Given the description of an element on the screen output the (x, y) to click on. 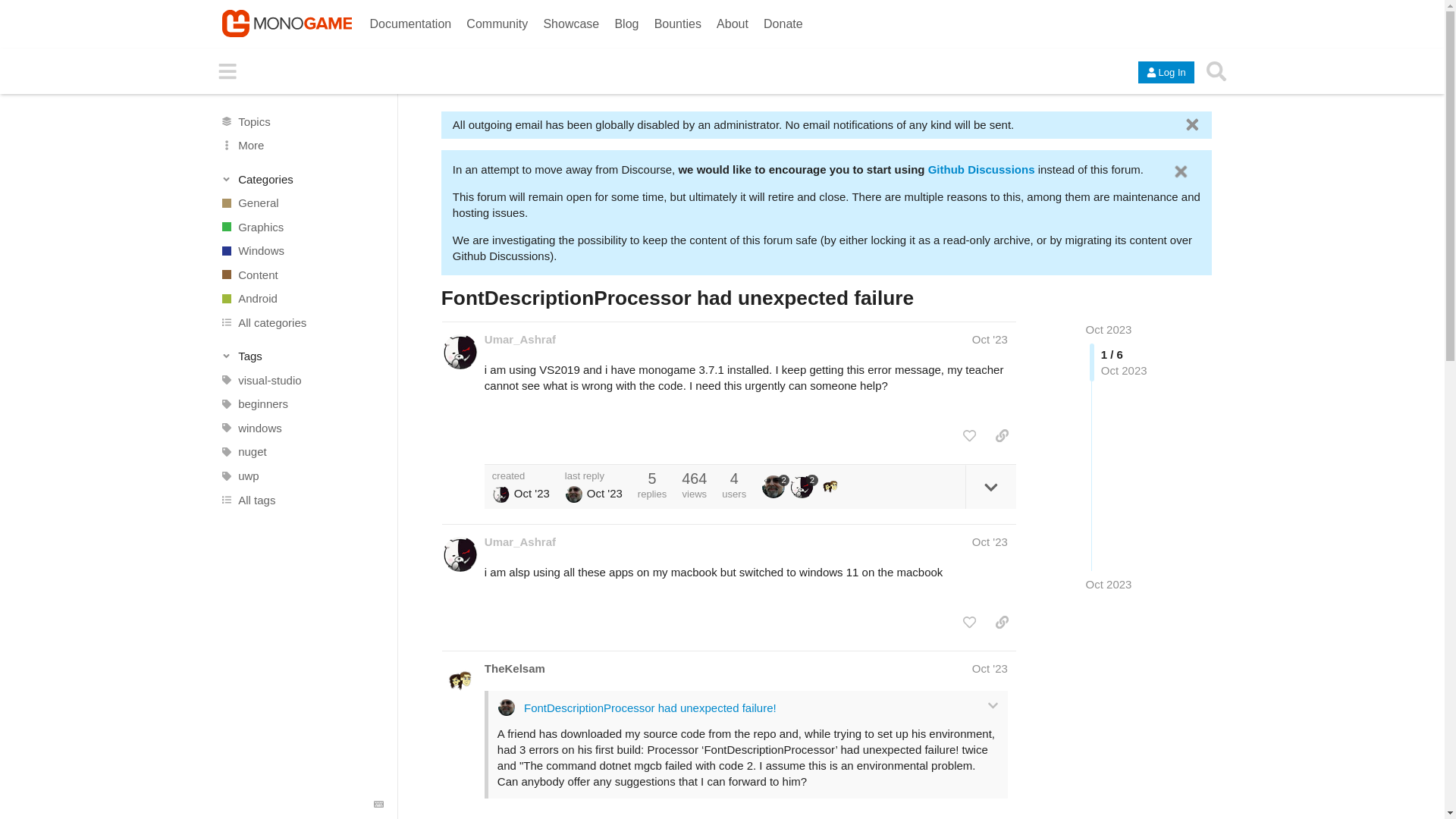
Android (301, 298)
Oct 25, 2023 11:30 pm (1109, 584)
Oct 2023 (1109, 328)
All categories (301, 322)
Post date (989, 338)
About (732, 19)
Blog (626, 19)
Topics (301, 120)
Showcase (571, 19)
Search (1215, 71)
visual-studio (301, 380)
All topics (301, 120)
Keyboard Shortcuts (378, 805)
Community (497, 19)
